Given the description of an element on the screen output the (x, y) to click on. 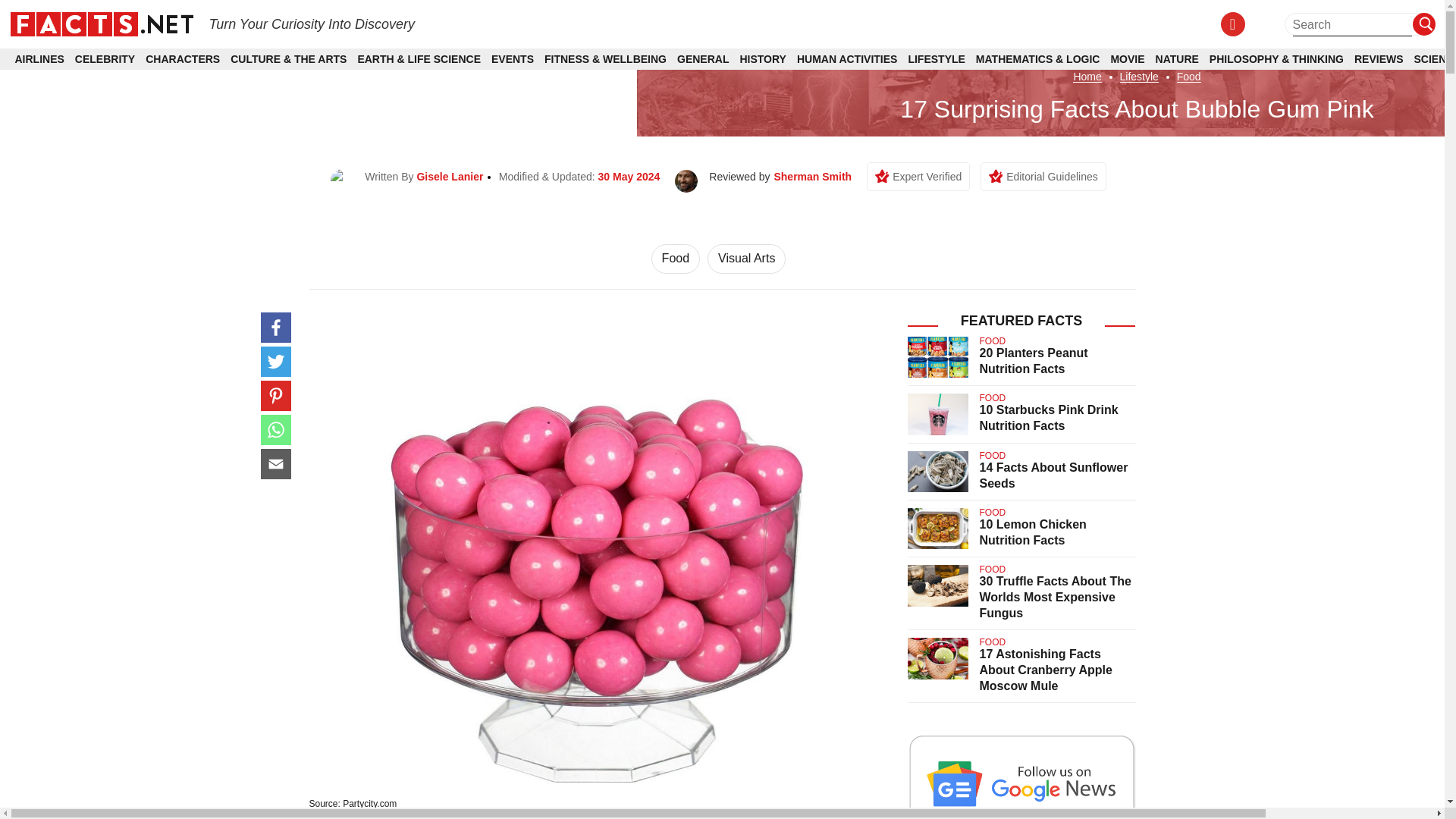
CHARACTERS (182, 59)
17 Astonishing Facts About Cranberry Apple Moscow Mule  (1045, 669)
30 Truffle Facts About The Worlds Most Expensive Fungus  (1055, 596)
10 Lemon Chicken Nutrition Facts  (1032, 532)
20 Planters Peanut Nutrition Facts  (1033, 360)
Facts.net (100, 23)
HISTORY (762, 59)
LIFESTYLE (935, 59)
AIRLINES (39, 59)
10 Starbucks Pink Drink Nutrition Facts  (1048, 417)
14 Facts About Sunflower Seeds  (1053, 475)
CELEBRITY (105, 59)
HUMAN ACTIVITIES (846, 59)
EVENTS (513, 59)
GENERAL (703, 59)
